Given the description of an element on the screen output the (x, y) to click on. 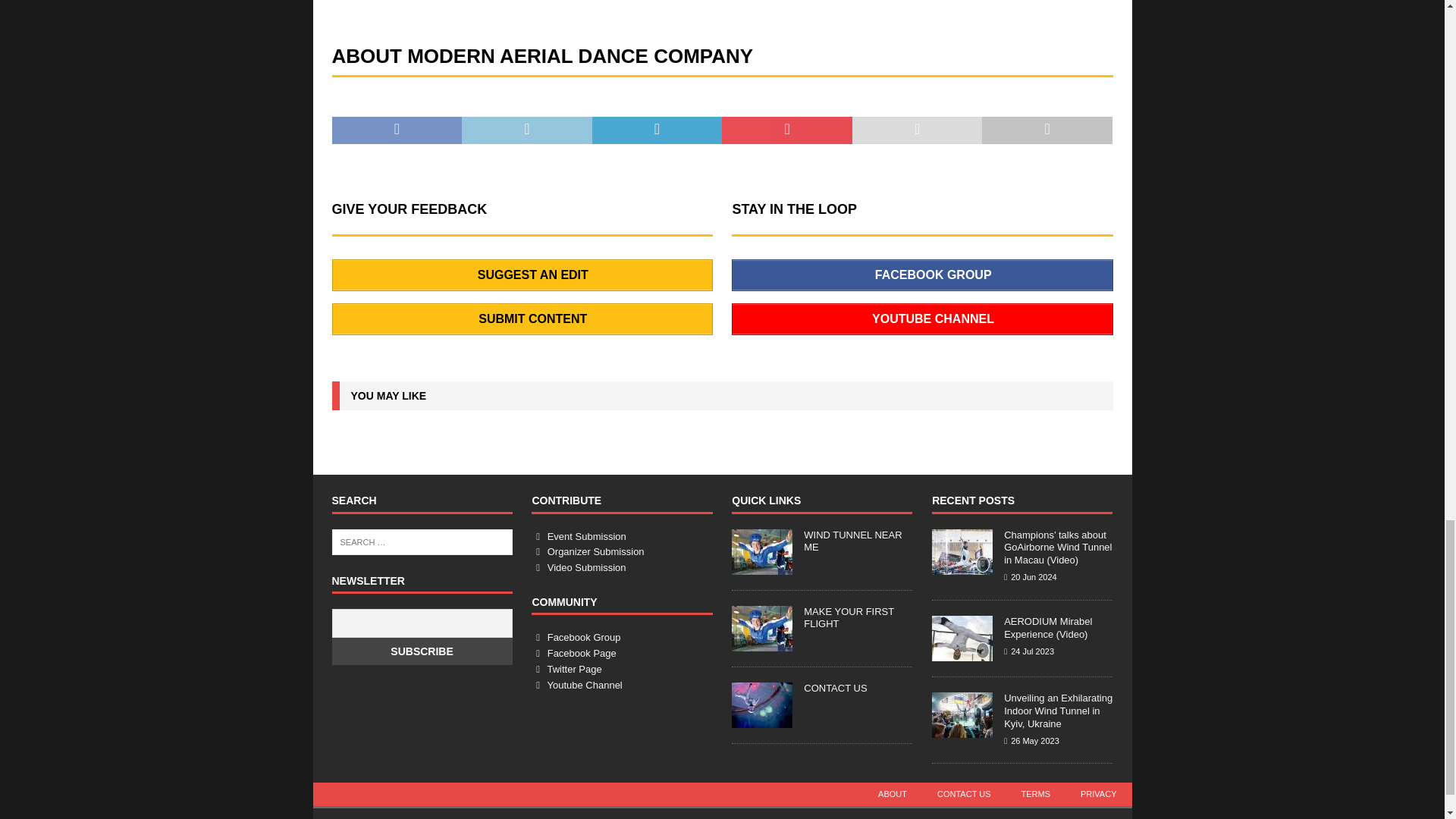
Subscribe (421, 651)
